Given the description of an element on the screen output the (x, y) to click on. 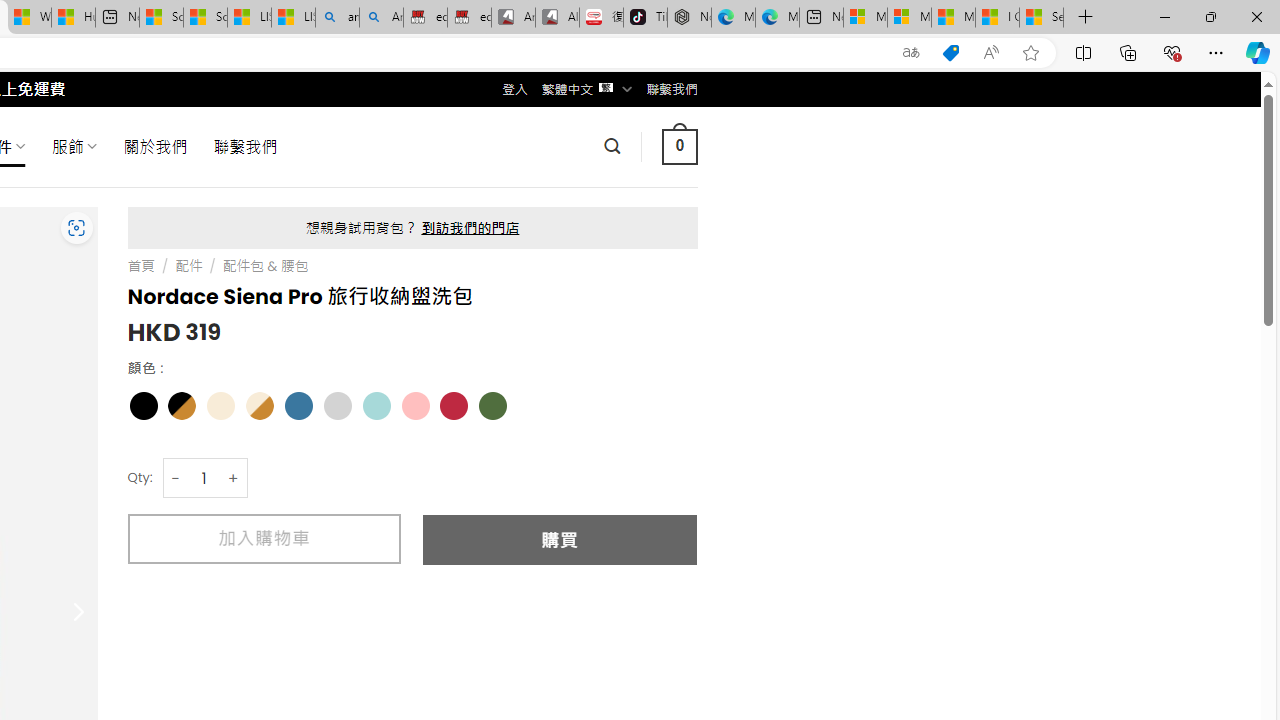
  0   (679, 146)
Amazon Echo Dot PNG - Search Images (381, 17)
Collections (1128, 52)
Nordace - Best Sellers (689, 17)
Huge shark washes ashore at New York City beach | Watch (73, 17)
Split screen (1083, 52)
